Given the description of an element on the screen output the (x, y) to click on. 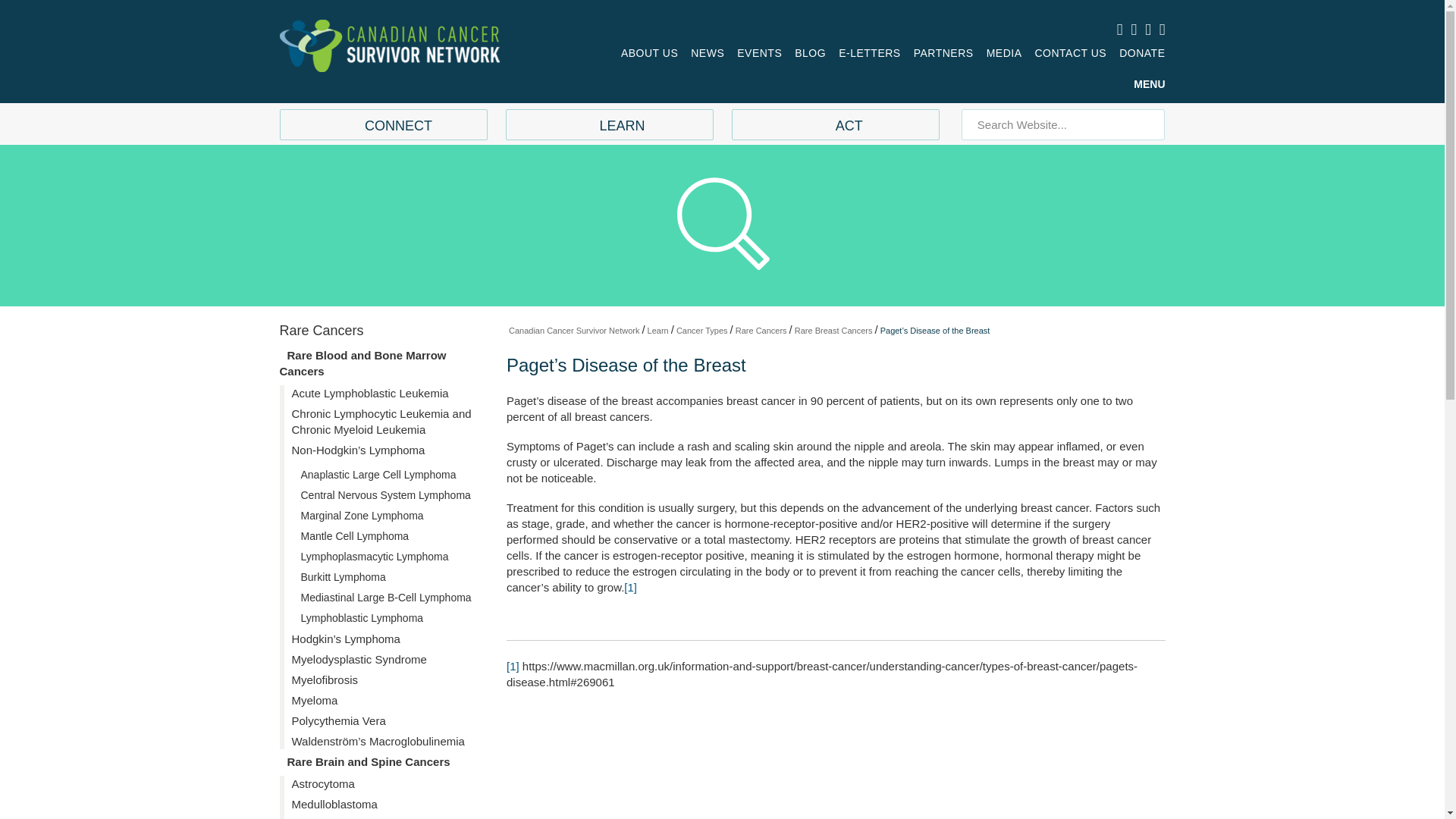
E-LETTERS (869, 52)
Go to Cancer Types. (702, 329)
Go to Rare Cancers. (761, 329)
Search (1148, 124)
BLOG (809, 52)
CONNECT (382, 124)
Search for: (1063, 124)
Search (1148, 124)
MEDIA (1004, 52)
DONATE (1141, 52)
ACT (835, 124)
CONTACT US (1069, 52)
EVENTS (758, 52)
MENU (1149, 83)
ABOUT US (649, 52)
